Given the description of an element on the screen output the (x, y) to click on. 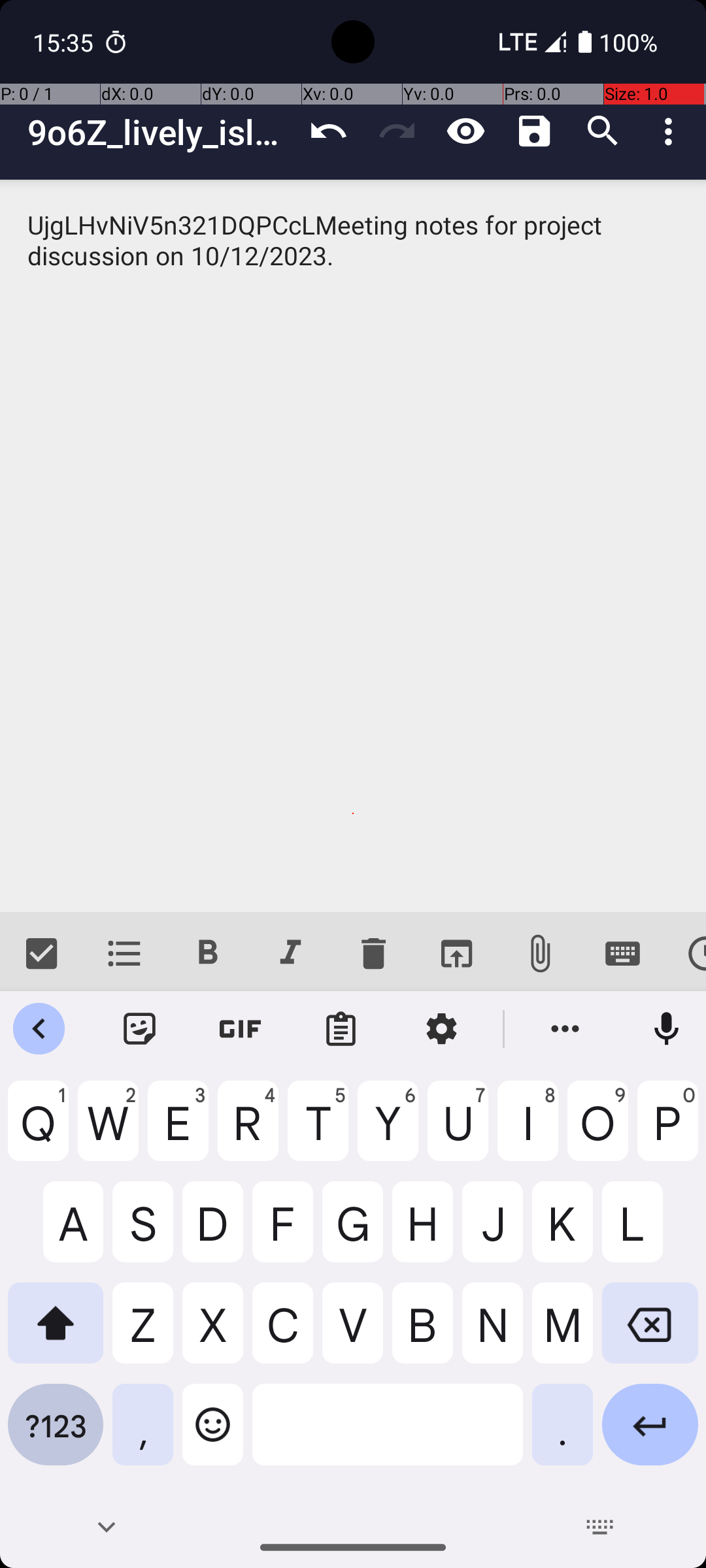
9o6Z_lively_island_edited Element type: android.widget.TextView (160, 131)
UjgLHvNiV5n321DQPCcLMeeting notes for project discussion on 10/12/2023.
 Element type: android.widget.EditText (353, 545)
